Given the description of an element on the screen output the (x, y) to click on. 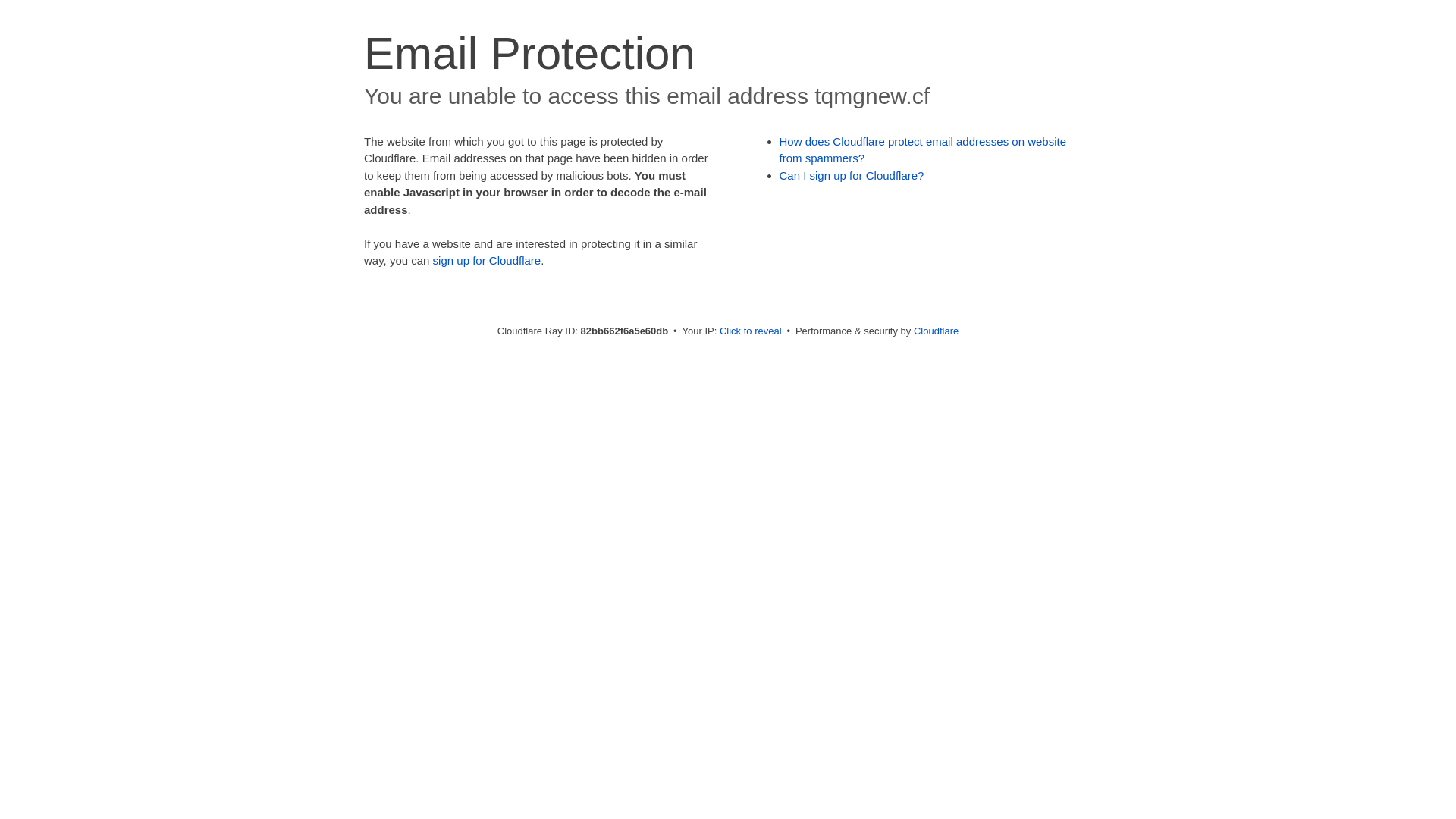
Click to reveal Element type: text (750, 330)
Cloudflare Element type: text (935, 330)
Can I sign up for Cloudflare? Element type: text (851, 175)
sign up for Cloudflare Element type: text (487, 260)
